Given the description of an element on the screen output the (x, y) to click on. 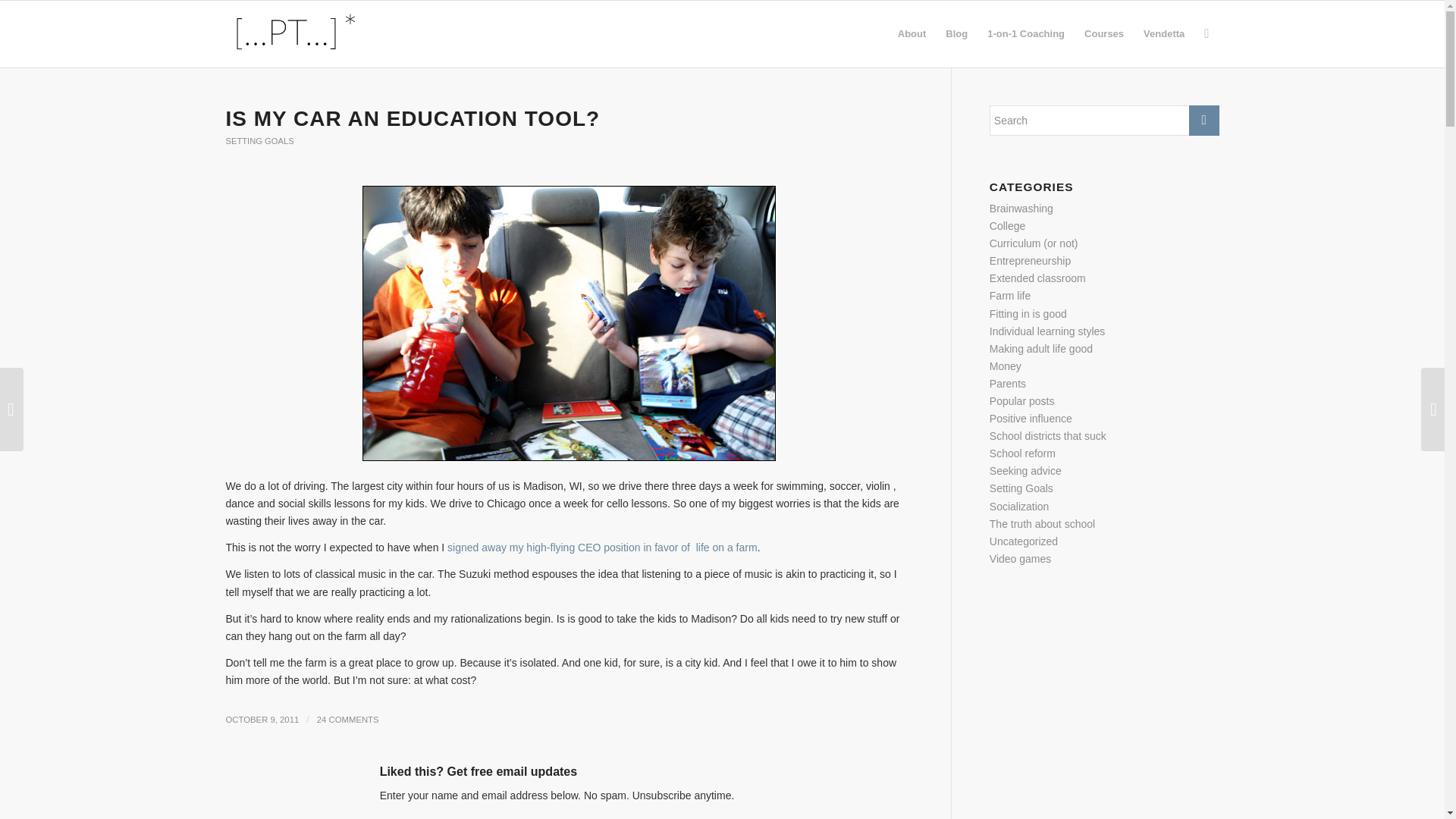
SETTING GOALS (259, 140)
1-on-1 Coaching (1025, 33)
Courses (1104, 33)
Vendetta (1163, 33)
About (912, 33)
Blog (956, 33)
Form 0 (569, 816)
24 COMMENTS (347, 718)
